Given the description of an element on the screen output the (x, y) to click on. 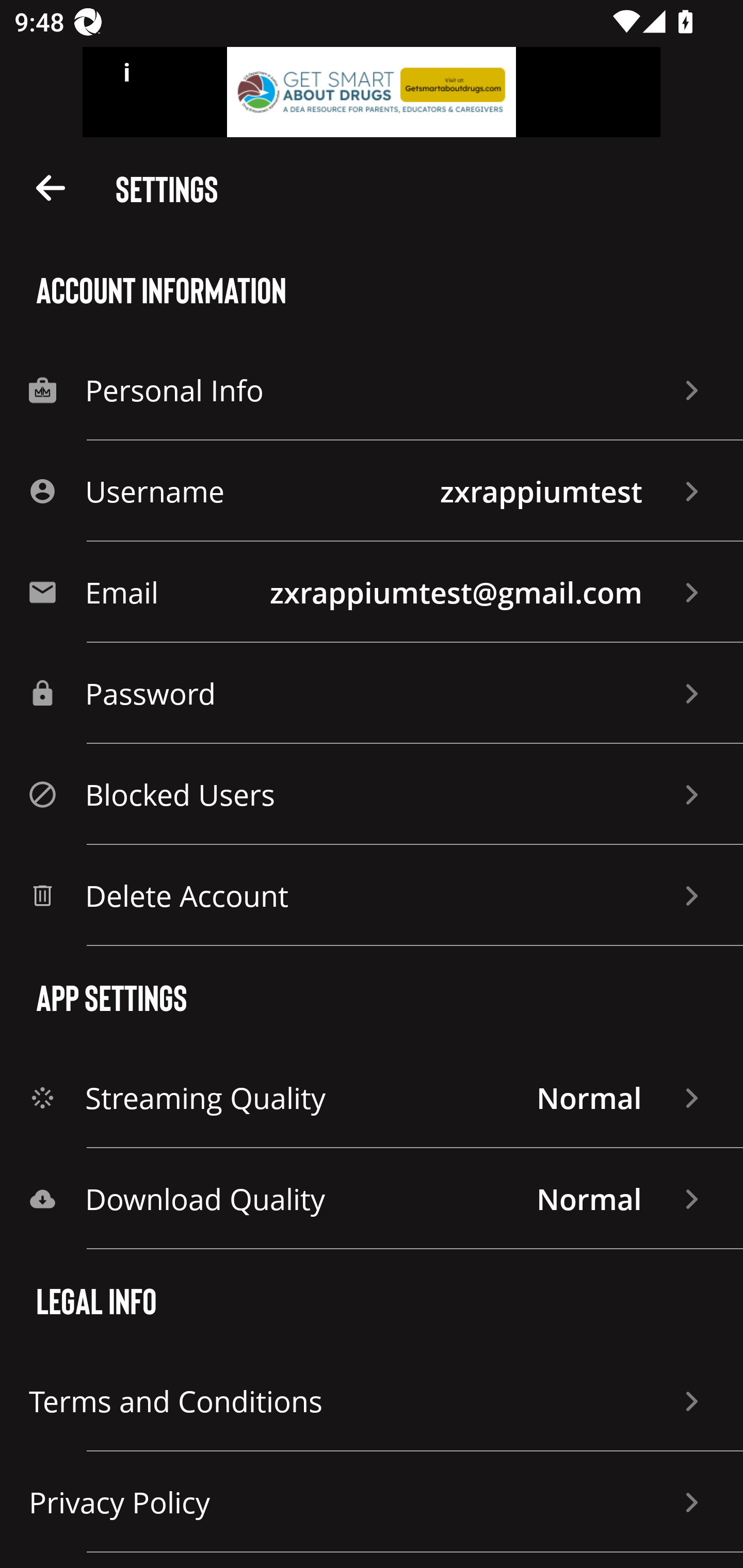
Description (50, 187)
Personal Info (371, 389)
Username zxrappiumtest (371, 490)
Email zxrappiumtest@gmail.com (371, 591)
Password (371, 692)
Blocked Users (371, 794)
Delete Account (371, 895)
Streaming Quality Normal (371, 1097)
Download Quality Normal (371, 1198)
Terms and Conditions (371, 1400)
Privacy Policy (371, 1501)
